Given the description of an element on the screen output the (x, y) to click on. 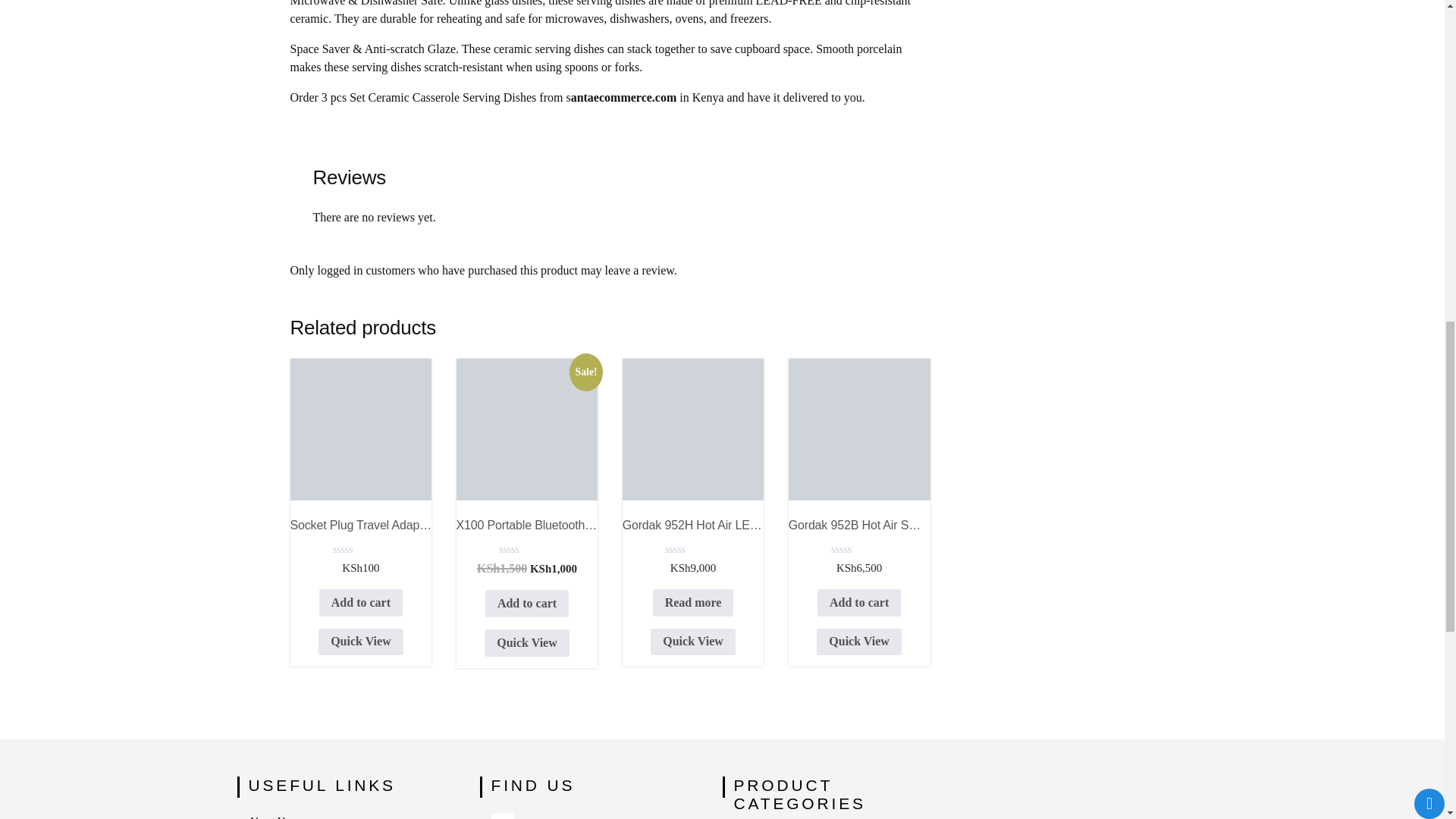
Add to cart (360, 602)
Quick View (360, 642)
Quick View (526, 642)
Quick View (692, 642)
Read more (692, 602)
Add to cart (526, 603)
